Given the description of an element on the screen output the (x, y) to click on. 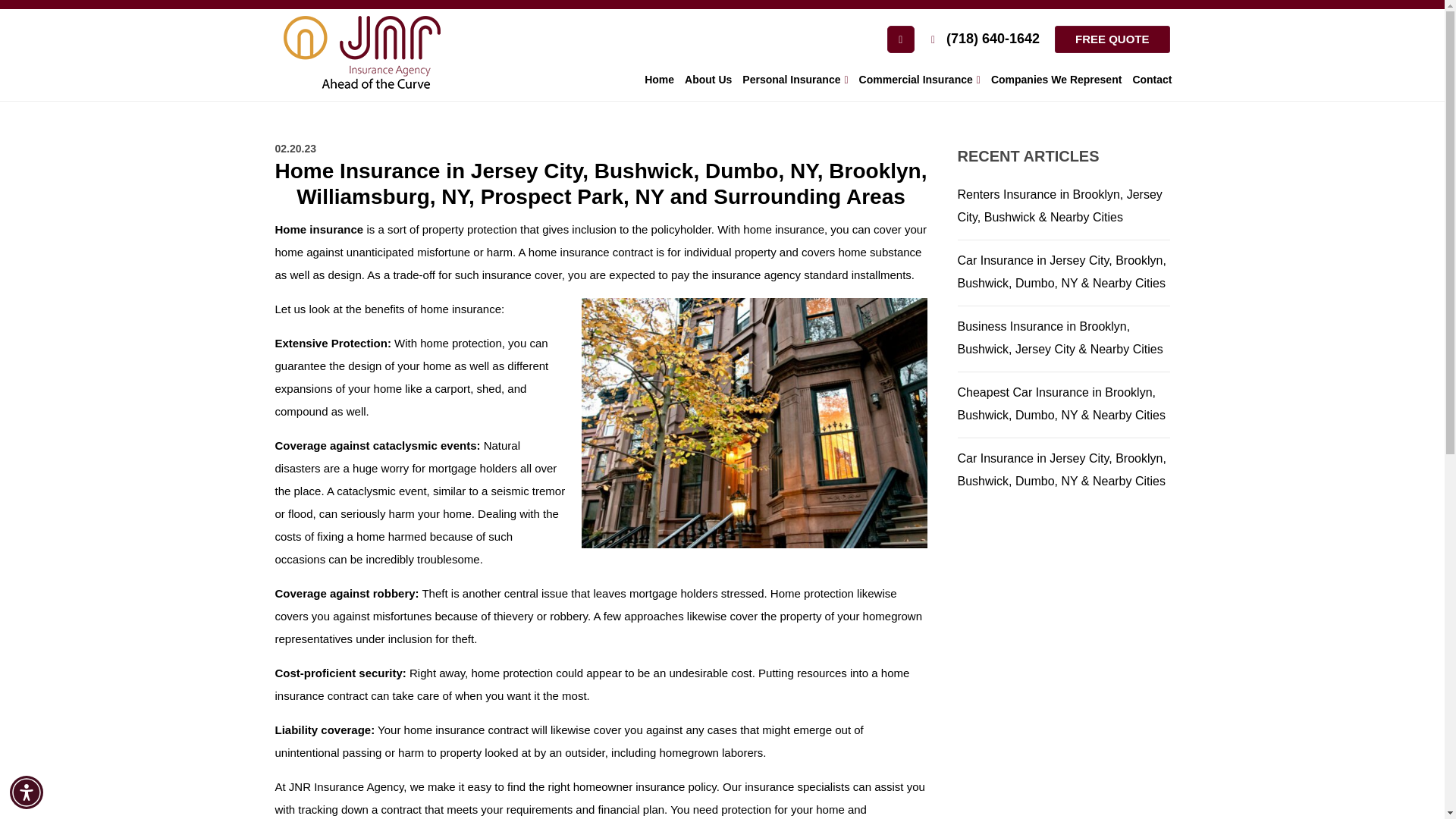
About Us (707, 79)
Accessibility Menu (26, 792)
Personal Insurance (794, 79)
Home insurance (318, 228)
Home (659, 79)
Facebook (900, 39)
Commercial Insurance (919, 79)
Companies We Represent (1055, 79)
Contact (1151, 79)
FREE QUOTE (1112, 39)
